Given the description of an element on the screen output the (x, y) to click on. 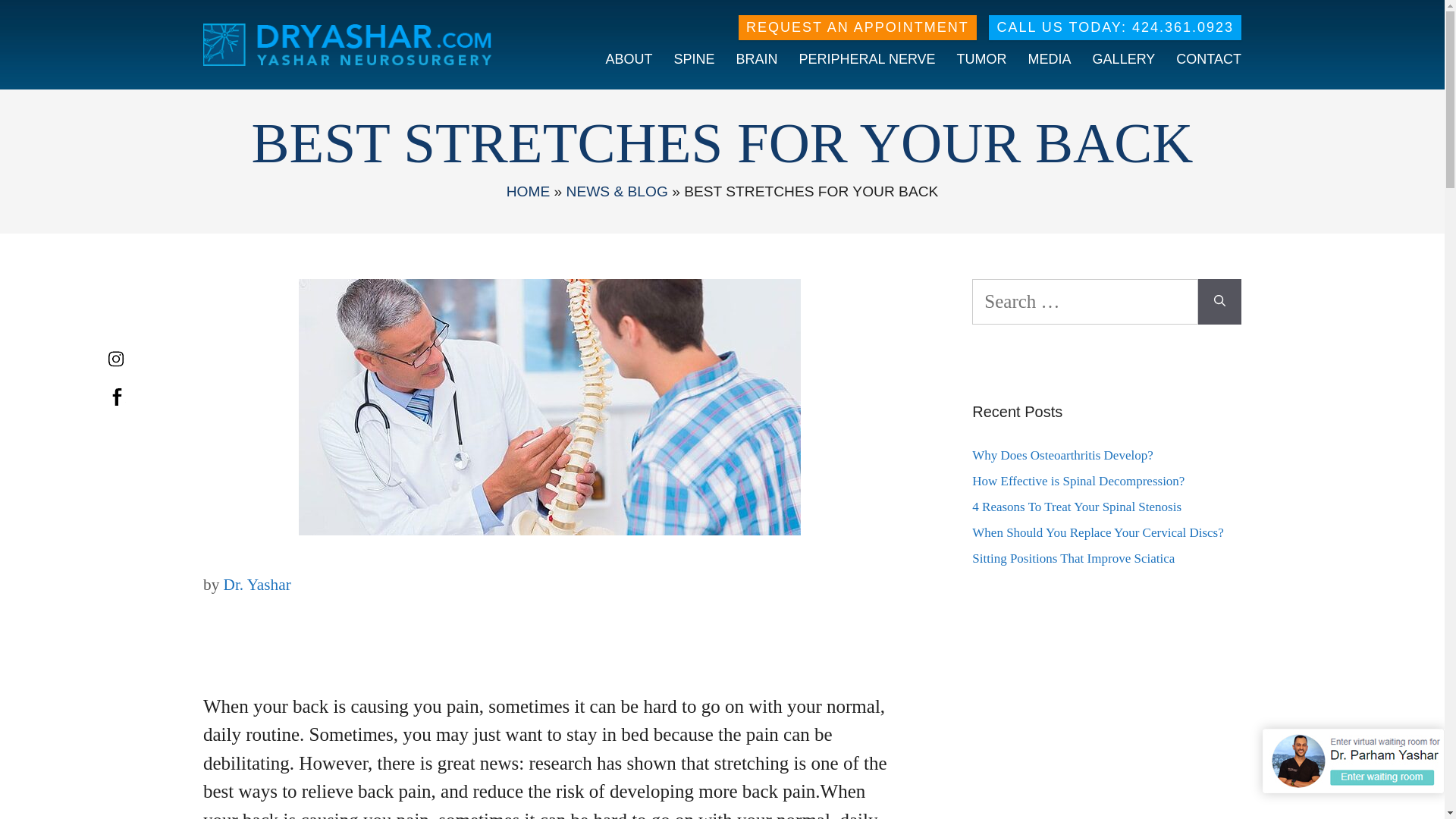
View all posts by Dr. Yashar (257, 584)
ABOUT (626, 59)
SPINE (692, 59)
REQUEST AN APPOINTMENT (857, 27)
Search for: (1085, 301)
424.361.0923 (1182, 27)
BRAIN (755, 59)
